Given the description of an element on the screen output the (x, y) to click on. 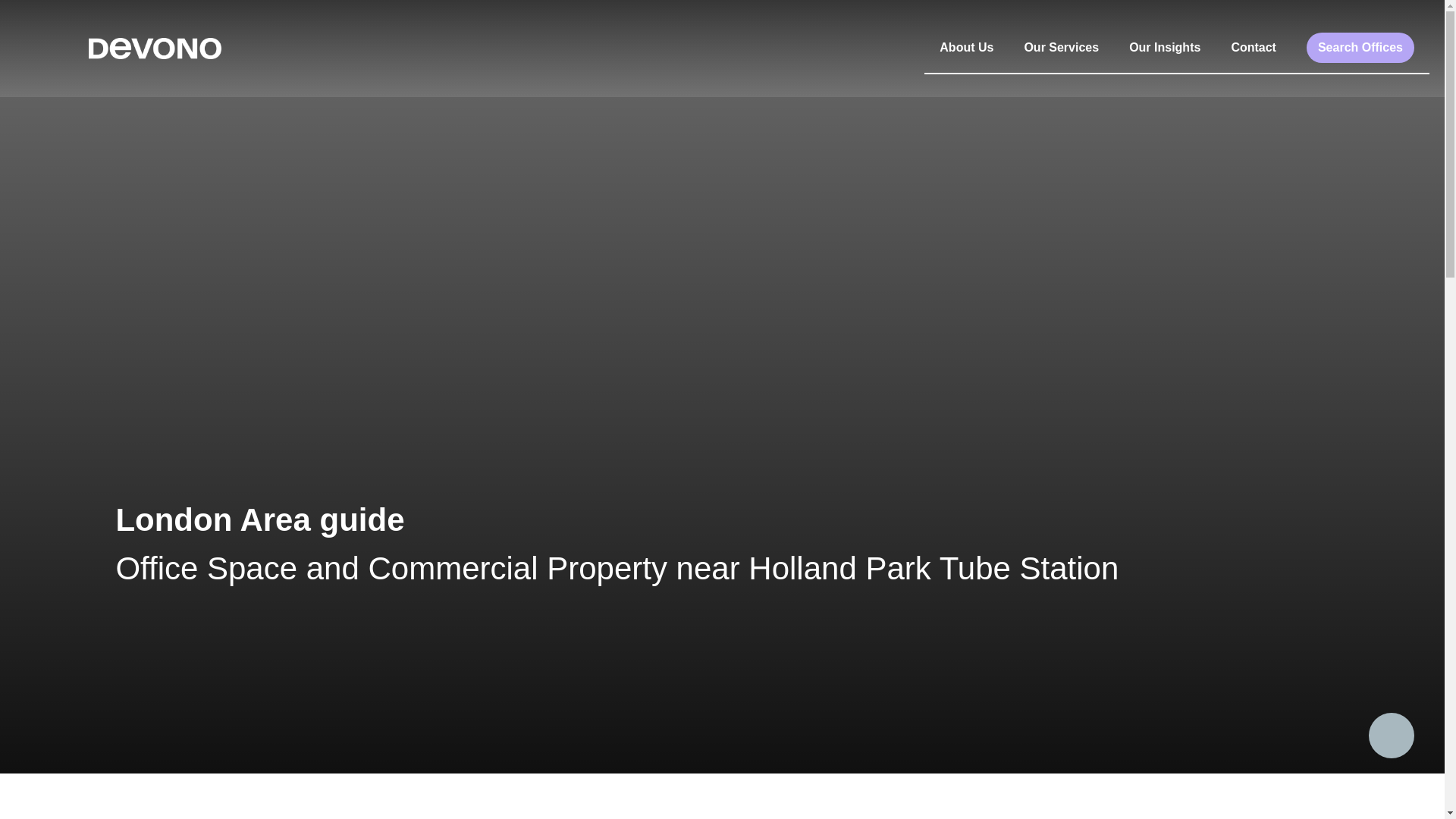
About Us (966, 47)
Contact (1253, 47)
Our Insights (1164, 47)
Our Services (1061, 47)
Search Offices (1360, 47)
